Given the description of an element on the screen output the (x, y) to click on. 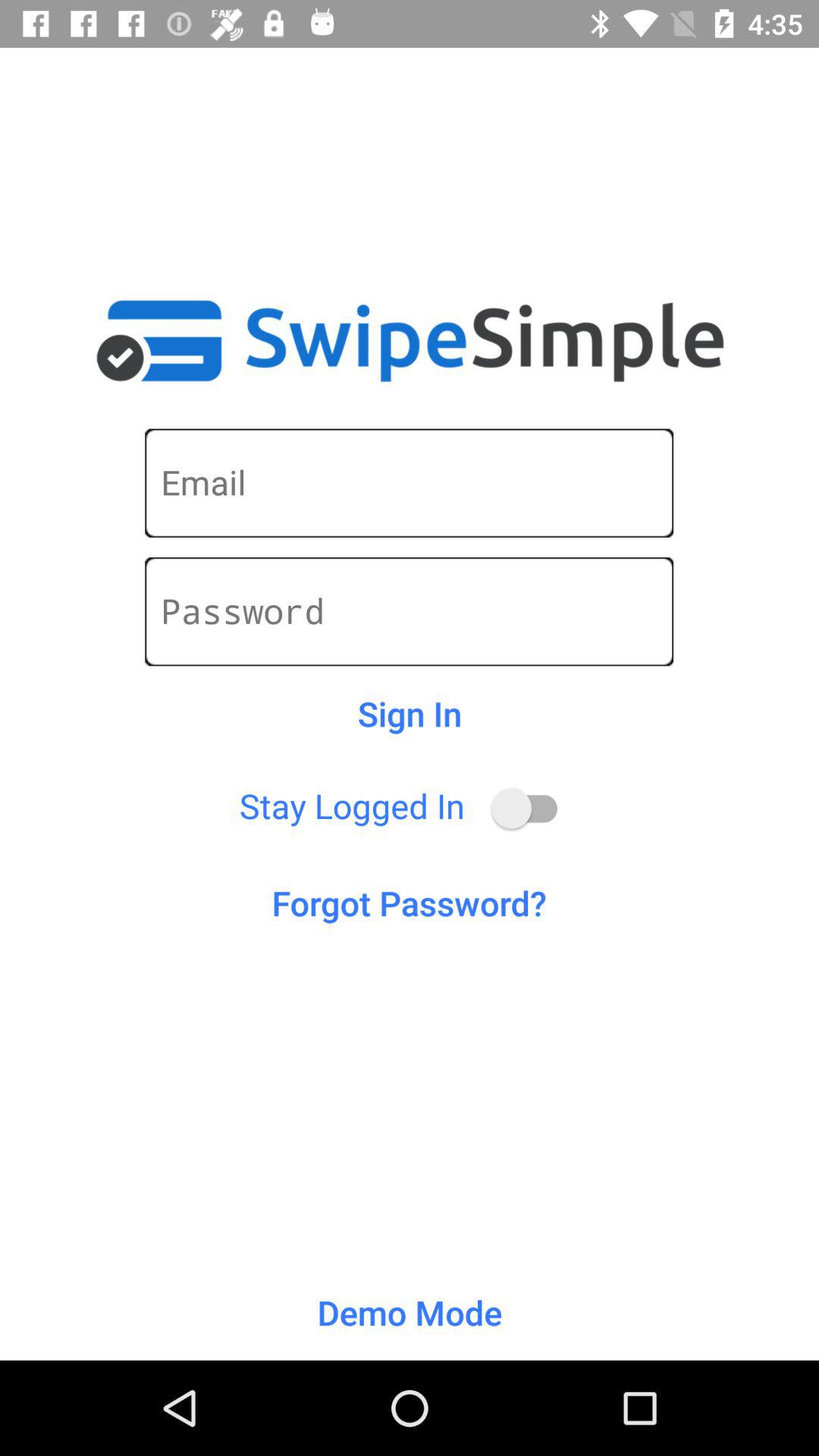
enter password (409, 611)
